Given the description of an element on the screen output the (x, y) to click on. 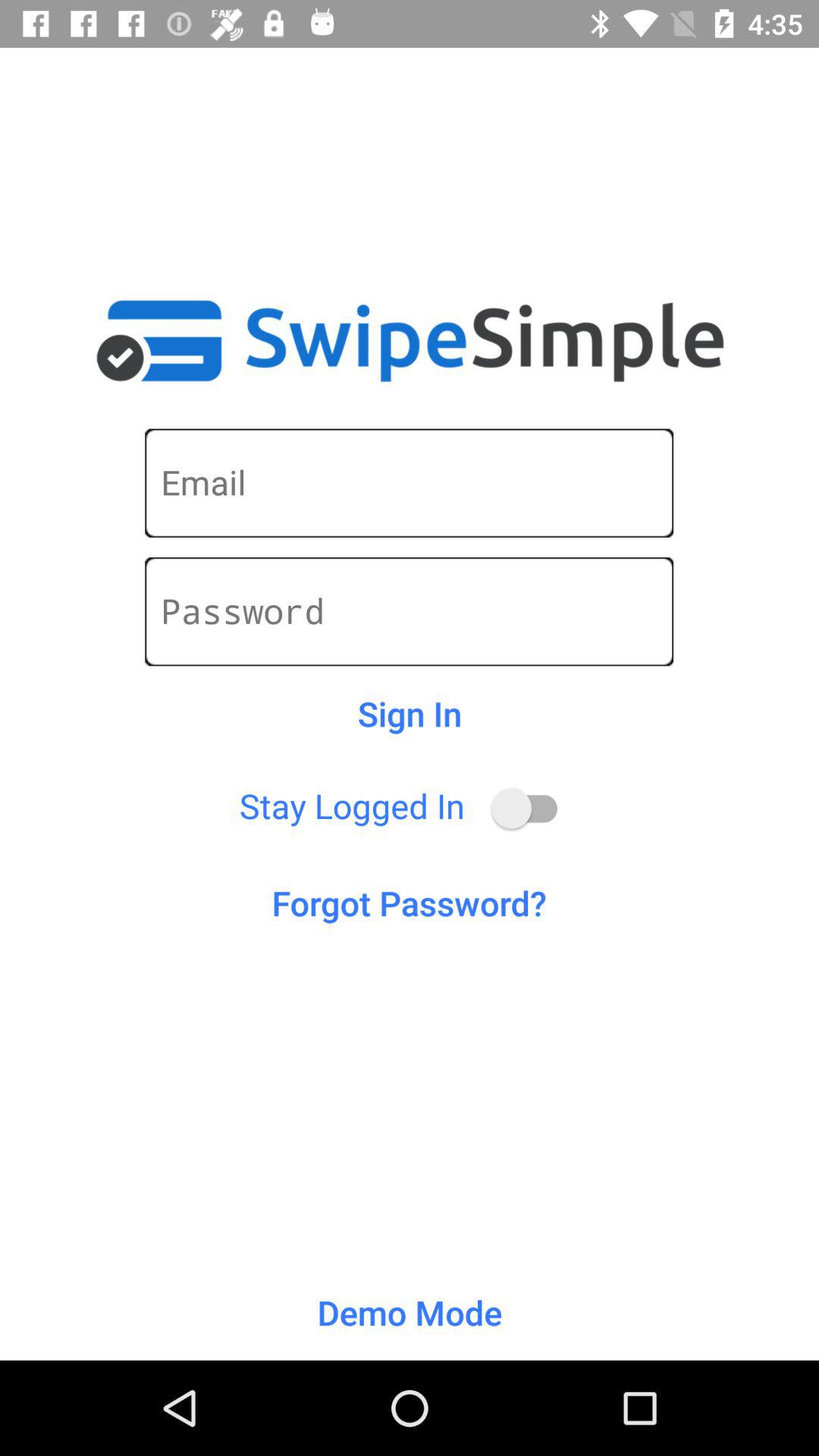
enter password (409, 611)
